Given the description of an element on the screen output the (x, y) to click on. 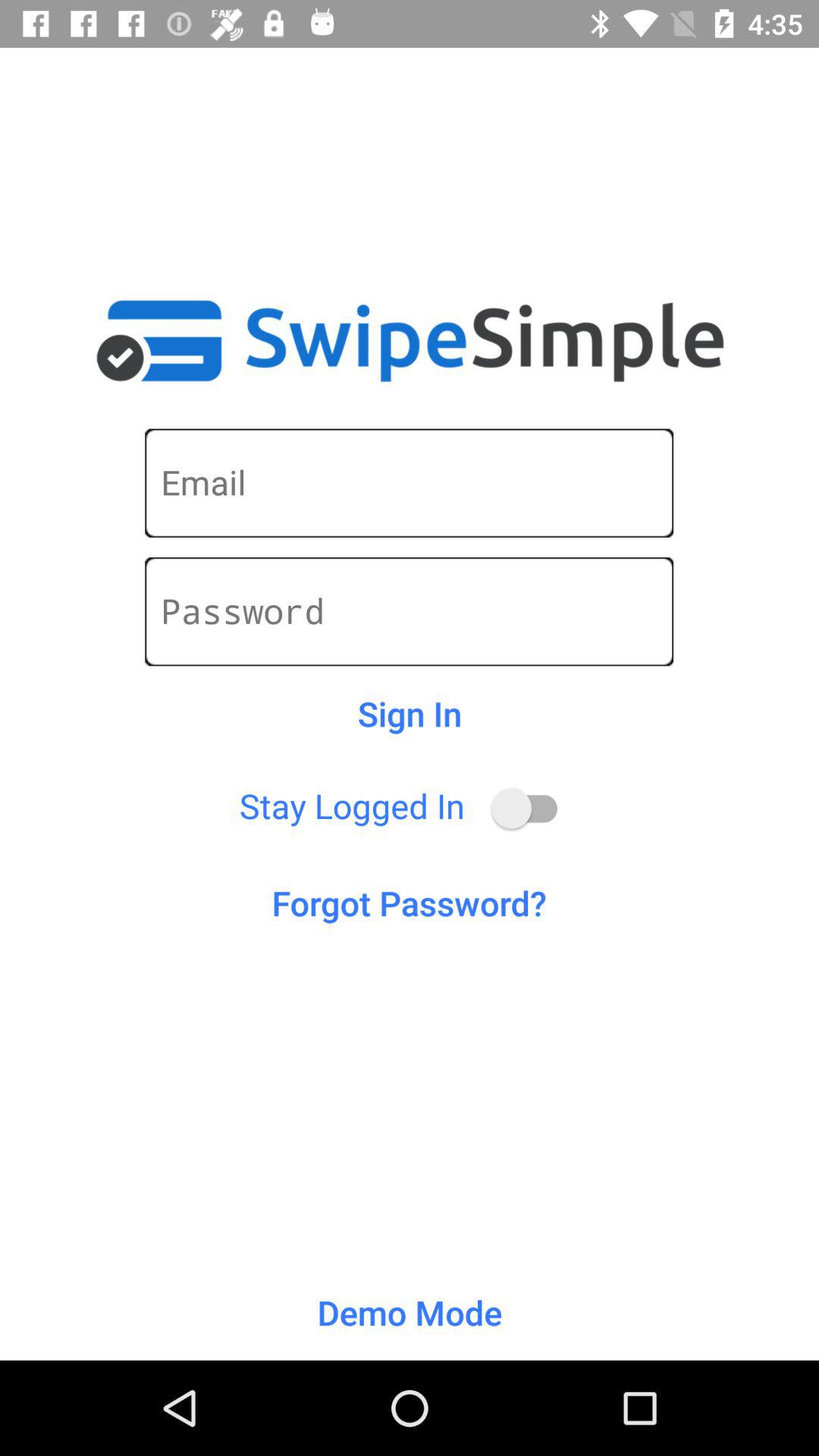
enter password (409, 611)
